Given the description of an element on the screen output the (x, y) to click on. 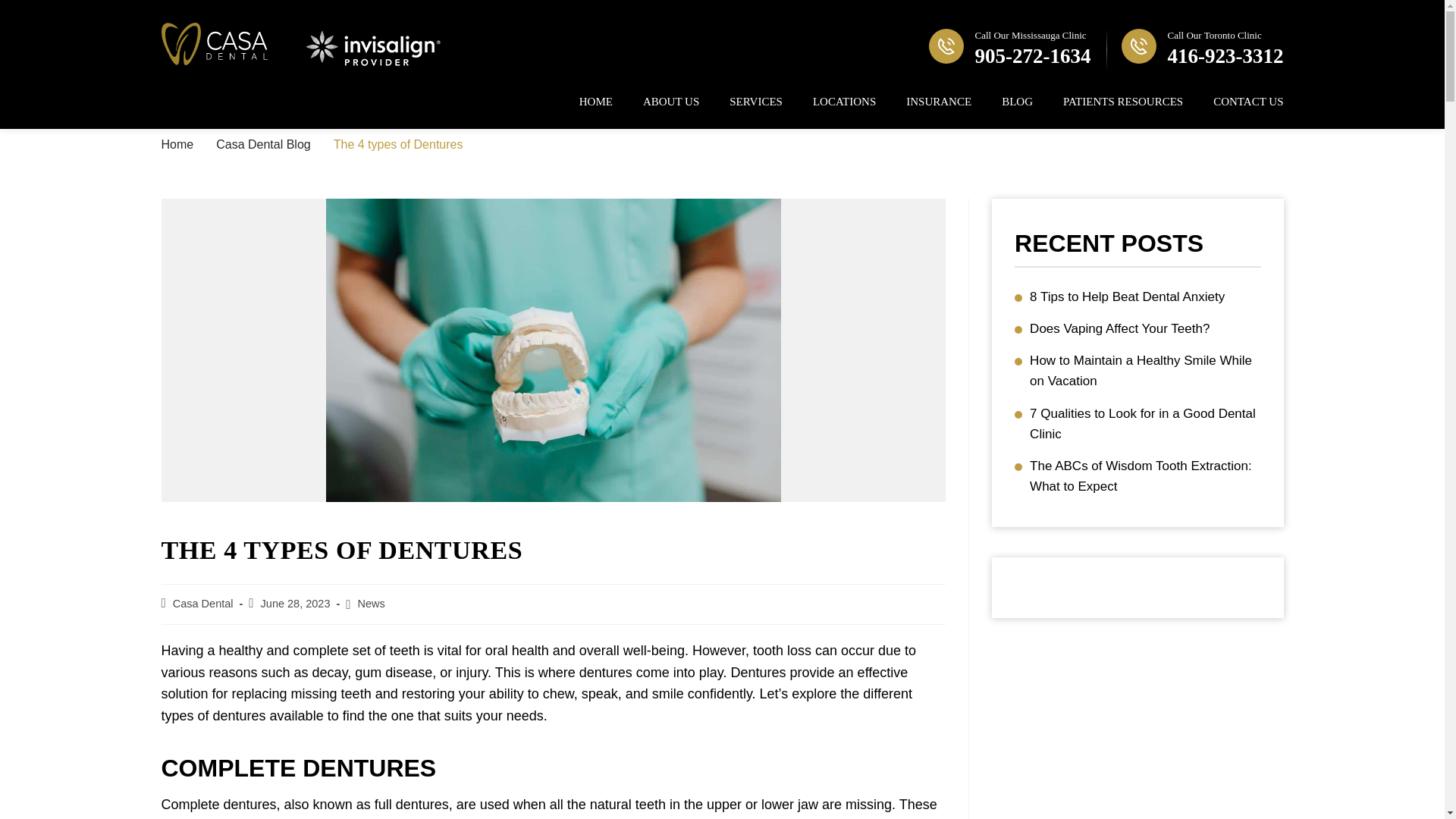
Casa Dental Blog (263, 144)
CONTACT US (1247, 101)
Casa Dental (202, 604)
INSURANCE (938, 101)
HOME (595, 101)
SERVICES (756, 101)
Posts by Casa Dental (1202, 49)
The 4 Types Of Dentures - Casa Dental (202, 604)
